Given the description of an element on the screen output the (x, y) to click on. 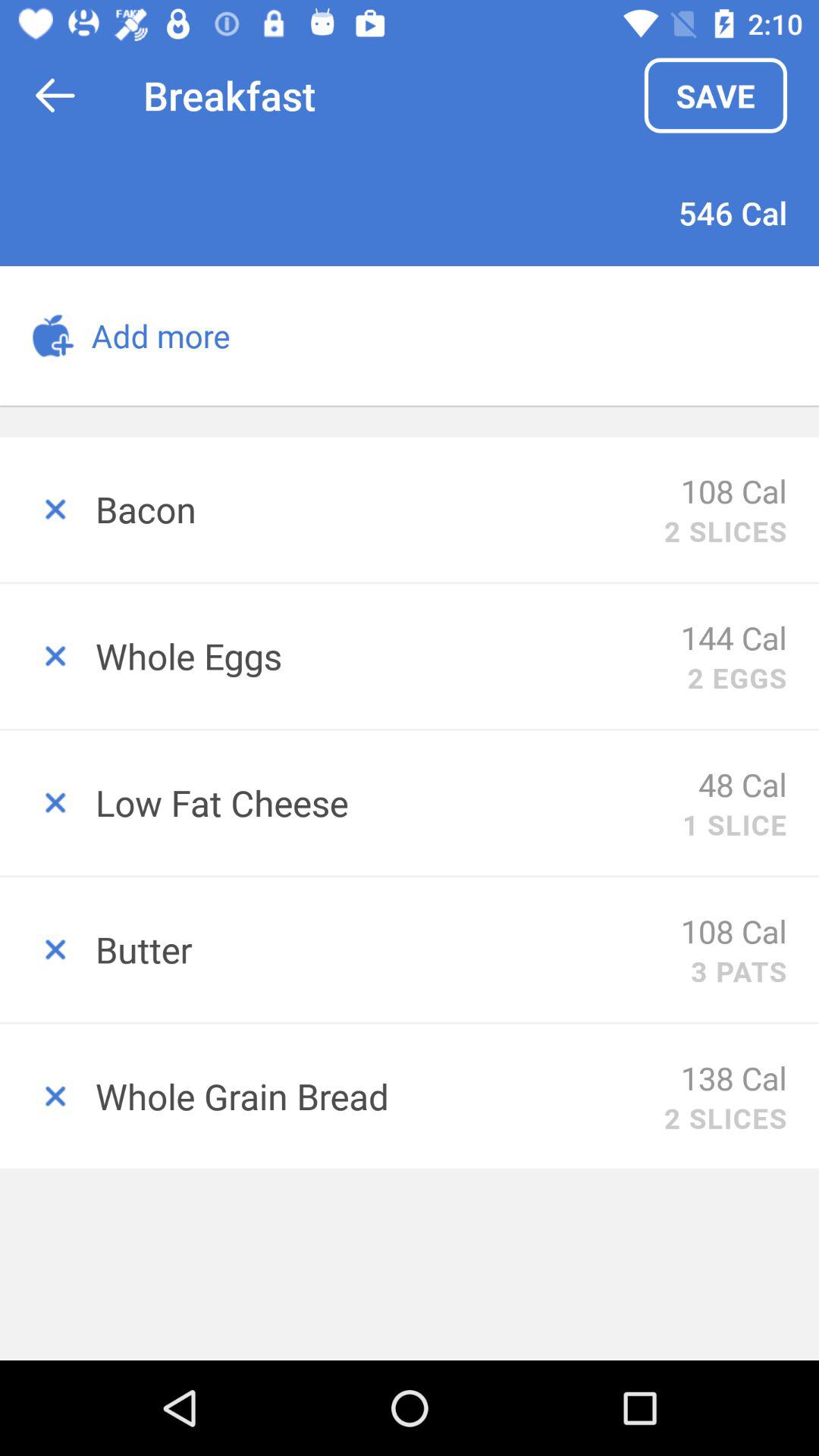
swipe until the 138 cal item (733, 1077)
